Given the description of an element on the screen output the (x, y) to click on. 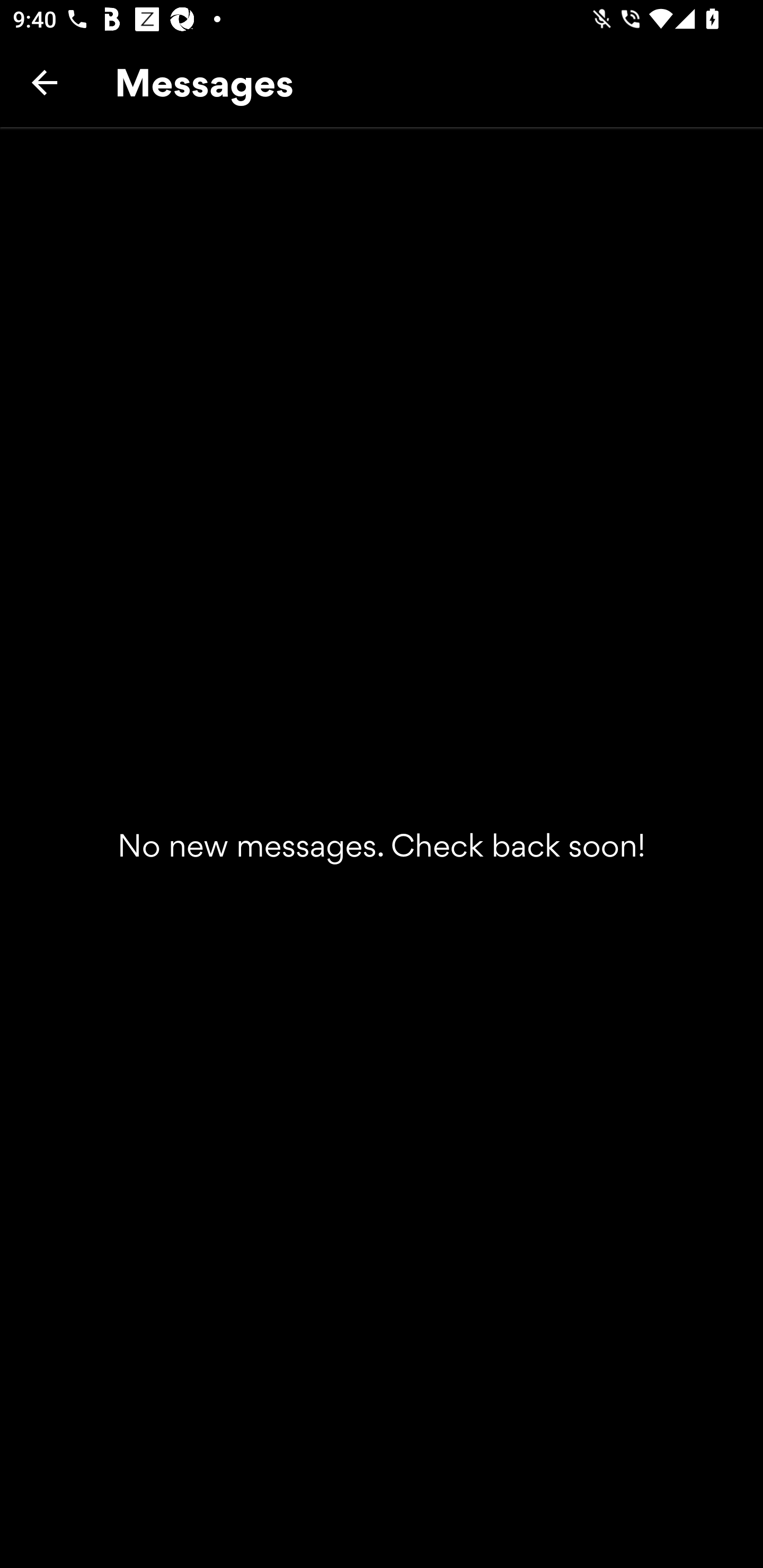
Back (44, 82)
